Given the description of an element on the screen output the (x, y) to click on. 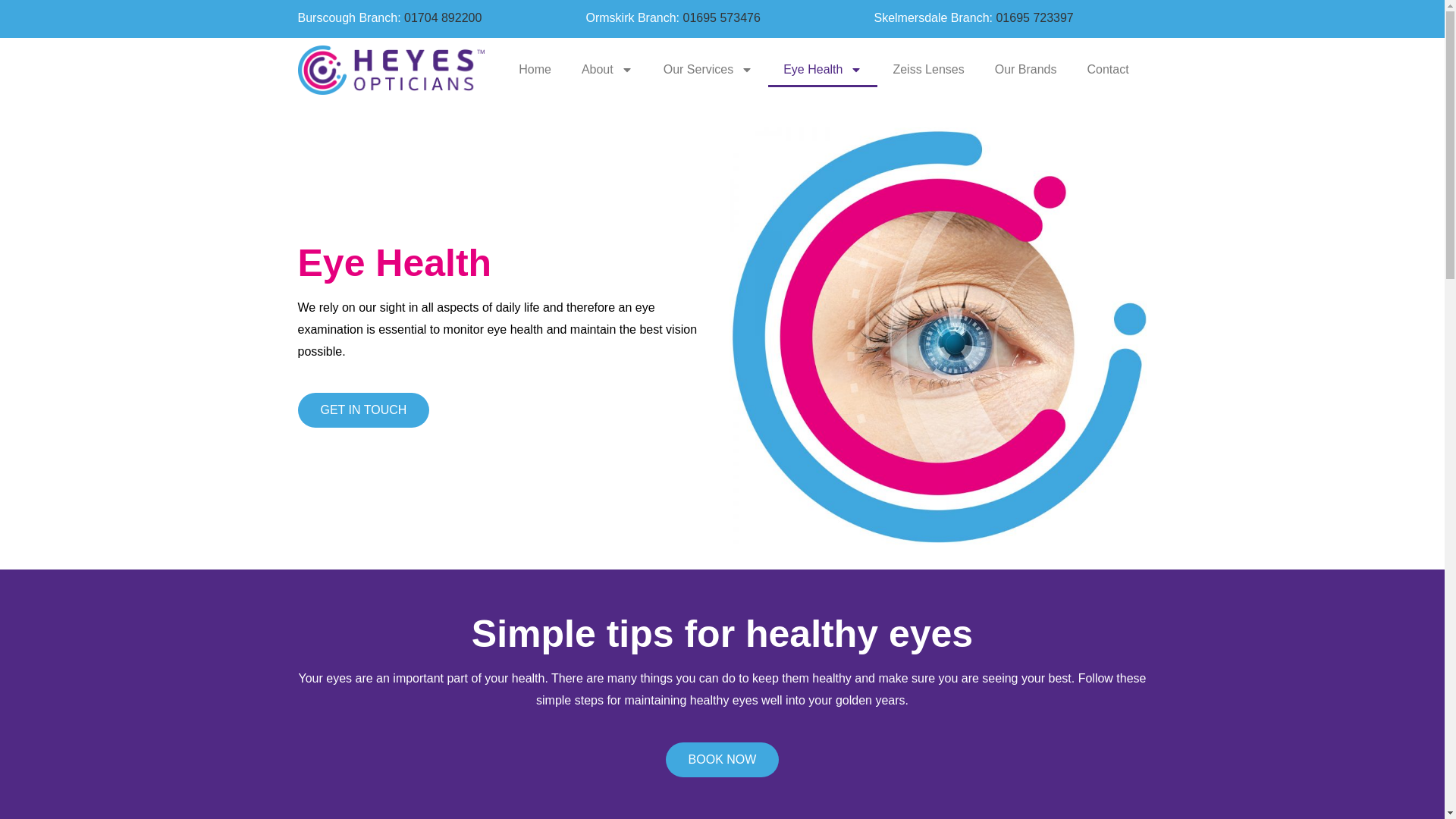
Eye Health (822, 69)
Our Brands (1025, 69)
Contact (1107, 69)
About (606, 69)
Home (534, 69)
01695 723397 (1034, 17)
Zeiss Lenses (927, 69)
Our Services (707, 69)
01704 892200 (442, 17)
01695 573476 (721, 17)
